Given the description of an element on the screen output the (x, y) to click on. 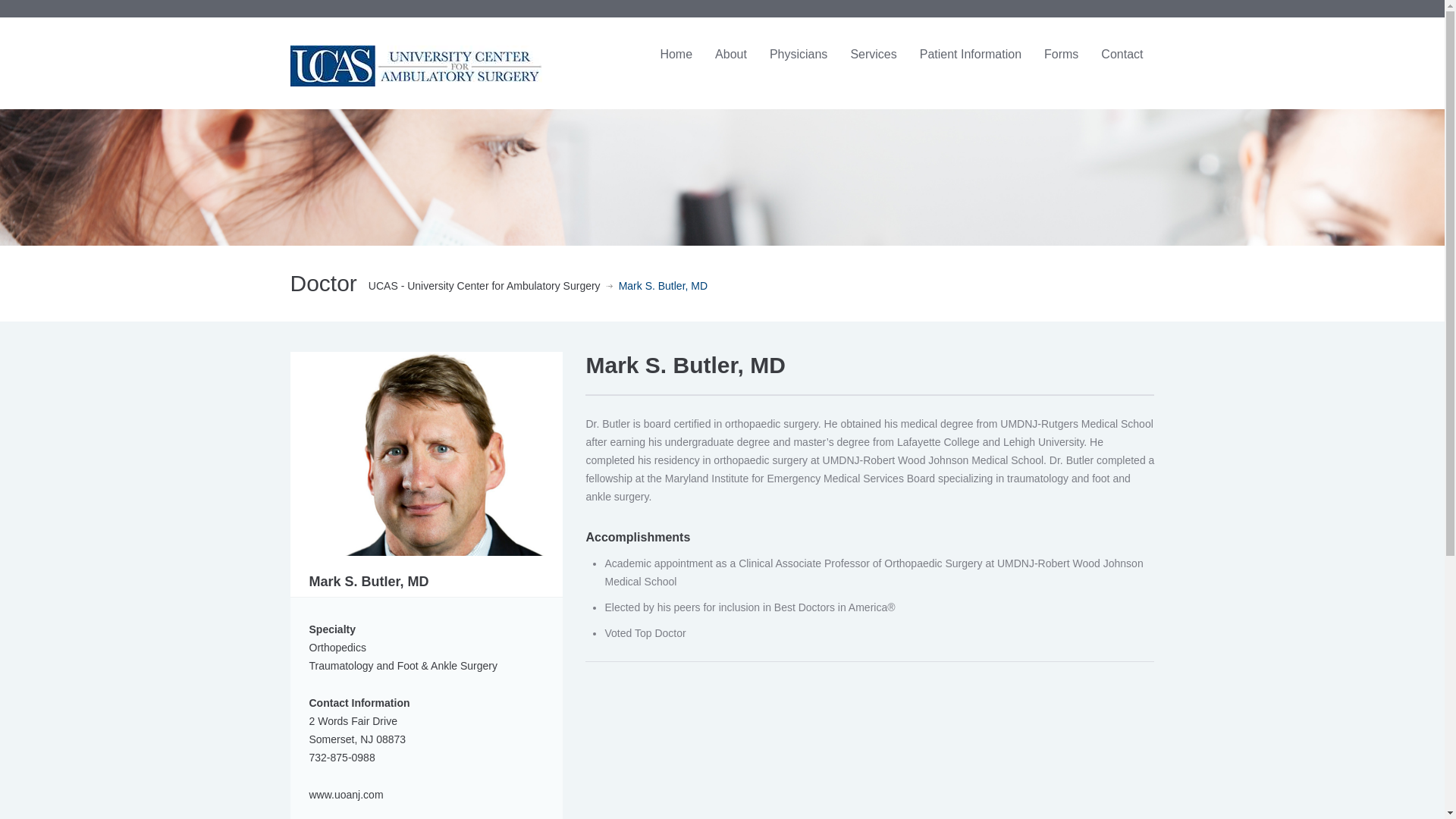
Physicians (798, 54)
Forms (1060, 54)
Mark S. Butler, MD (425, 452)
Patient Information (970, 54)
Contact (1121, 54)
www.uoanj.com (346, 794)
UCAS - University Center for Ambulatory Surgery (483, 286)
Services (872, 54)
About (730, 54)
Home (675, 54)
